Given the description of an element on the screen output the (x, y) to click on. 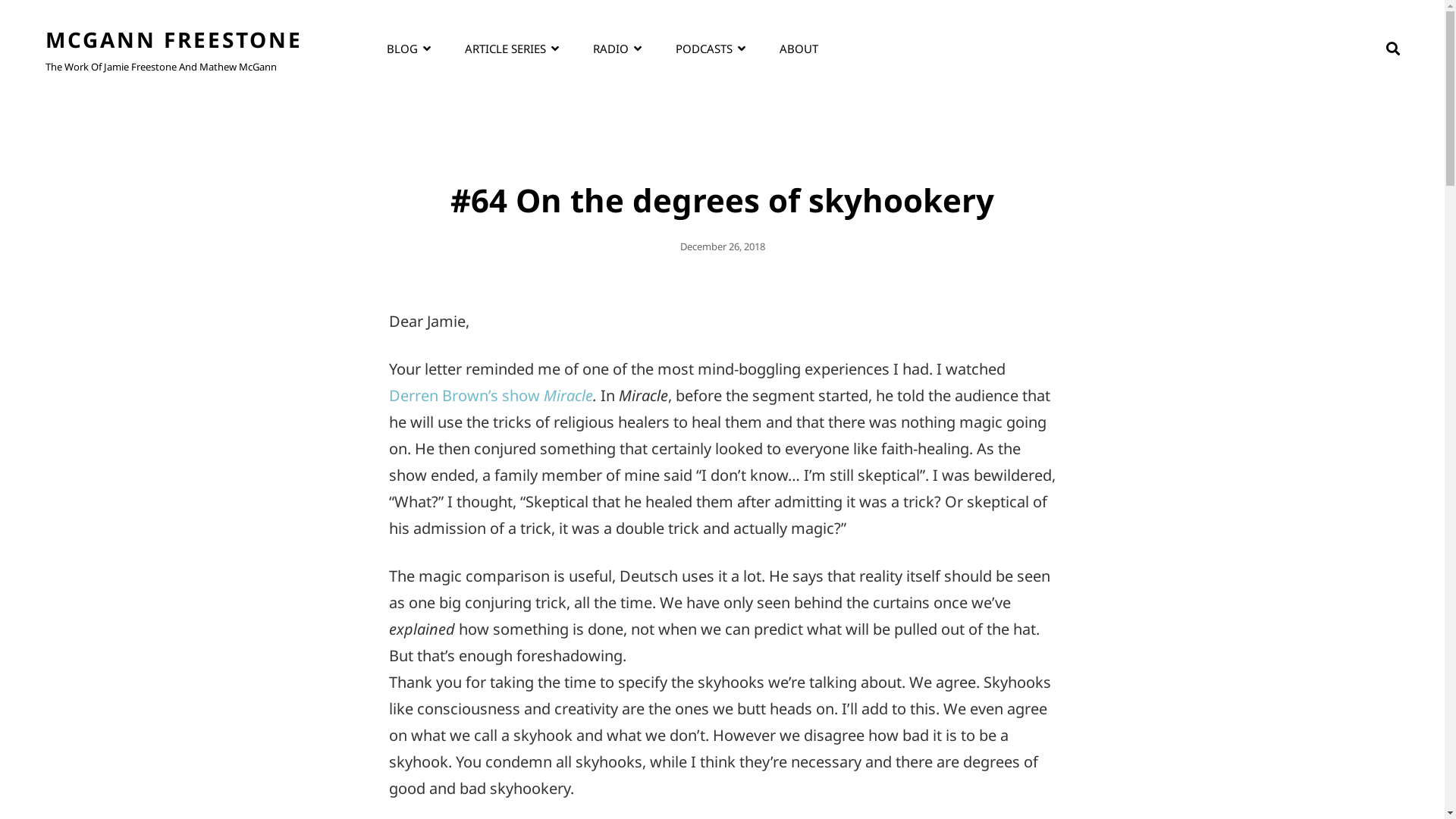
ABOUT Element type: text (798, 48)
ARTICLE SERIES Element type: text (511, 48)
Miracle Element type: text (567, 395)
MCGANN FREESTONE Element type: text (173, 39)
December 26, 2018 Element type: text (721, 246)
RADIO Element type: text (616, 48)
BLOG Element type: text (408, 48)
SEARCH Element type: text (1392, 48)
PODCASTS Element type: text (710, 48)
